Given the description of an element on the screen output the (x, y) to click on. 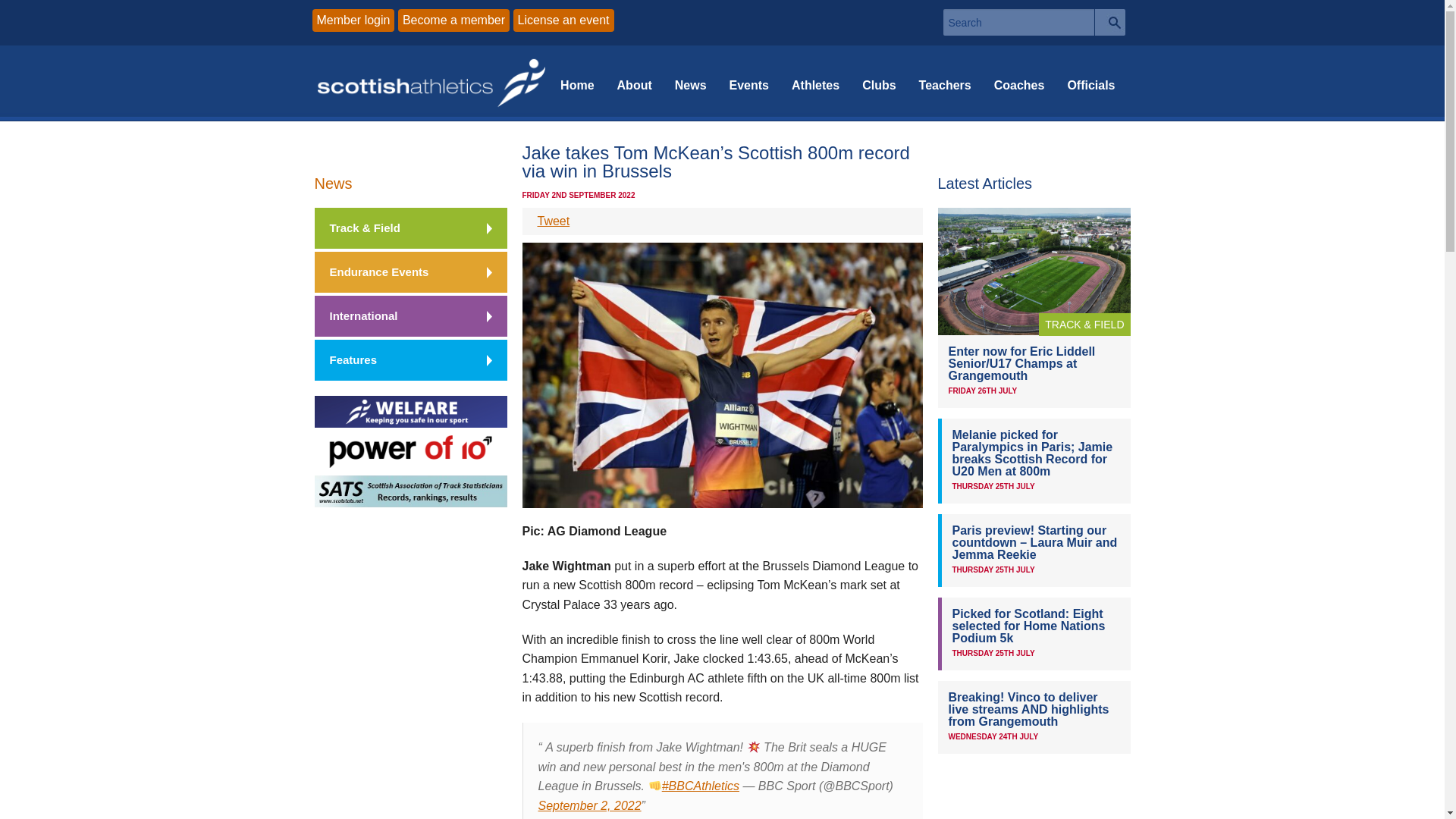
Become a member (453, 20)
Athletes (815, 83)
Member login (353, 20)
News (333, 183)
Tweet (553, 221)
Teachers (944, 83)
Officials (1090, 83)
Search (1109, 22)
September 2, 2022 (590, 805)
Coaches (1019, 83)
License an event (563, 20)
